Given the description of an element on the screen output the (x, y) to click on. 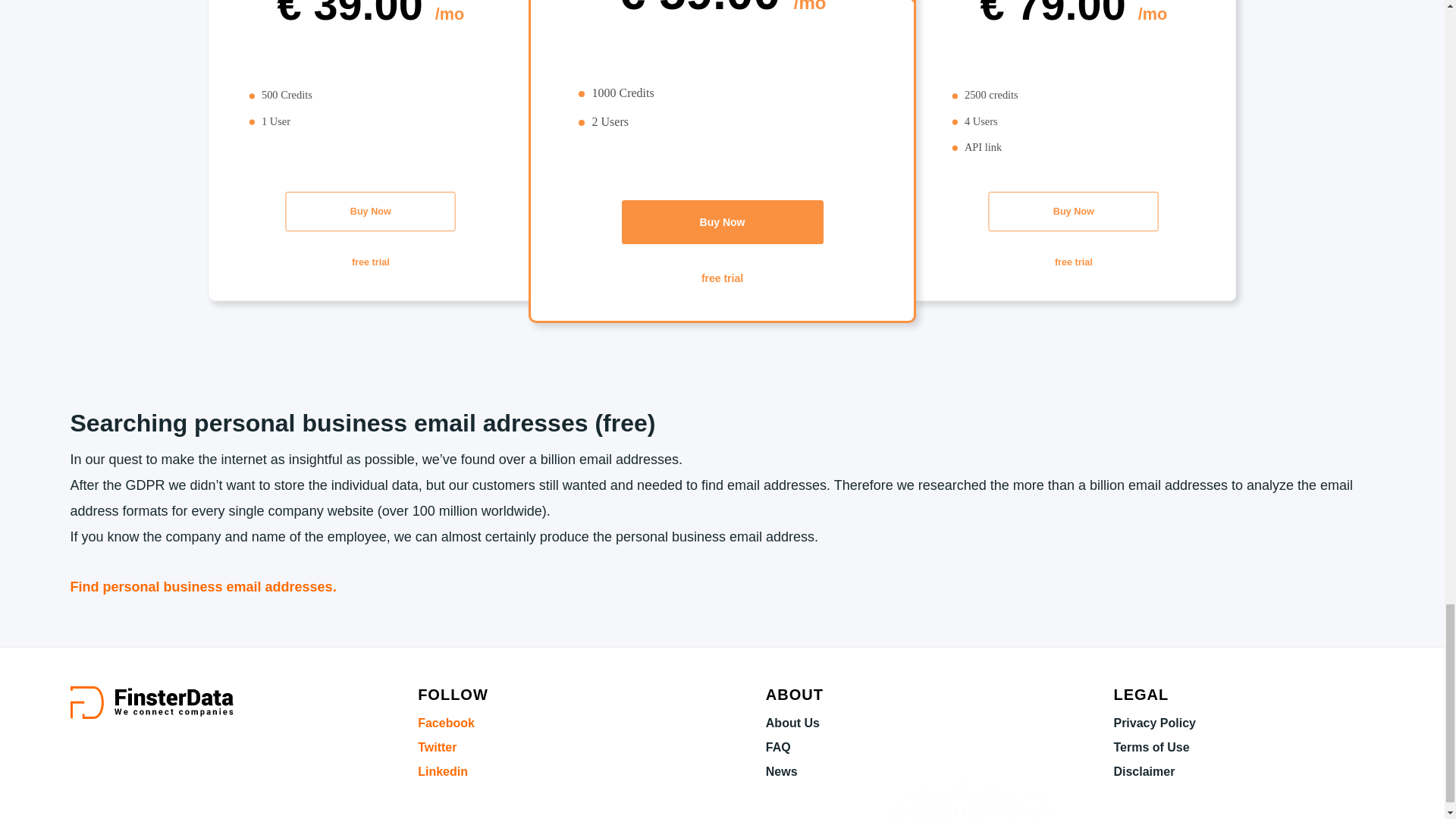
Buy Now (379, 212)
free trial (1082, 262)
Disclaimer (1143, 771)
Facebook (445, 722)
Linkedin (442, 771)
Buy Now (720, 221)
News (781, 771)
Privacy Policy (1154, 722)
Twitter (437, 747)
Terms of Use (1151, 747)
FAQ (777, 747)
About Us (792, 722)
free trial (721, 278)
Find personal business email addresses. (202, 586)
Buy Now (1082, 212)
